Given the description of an element on the screen output the (x, y) to click on. 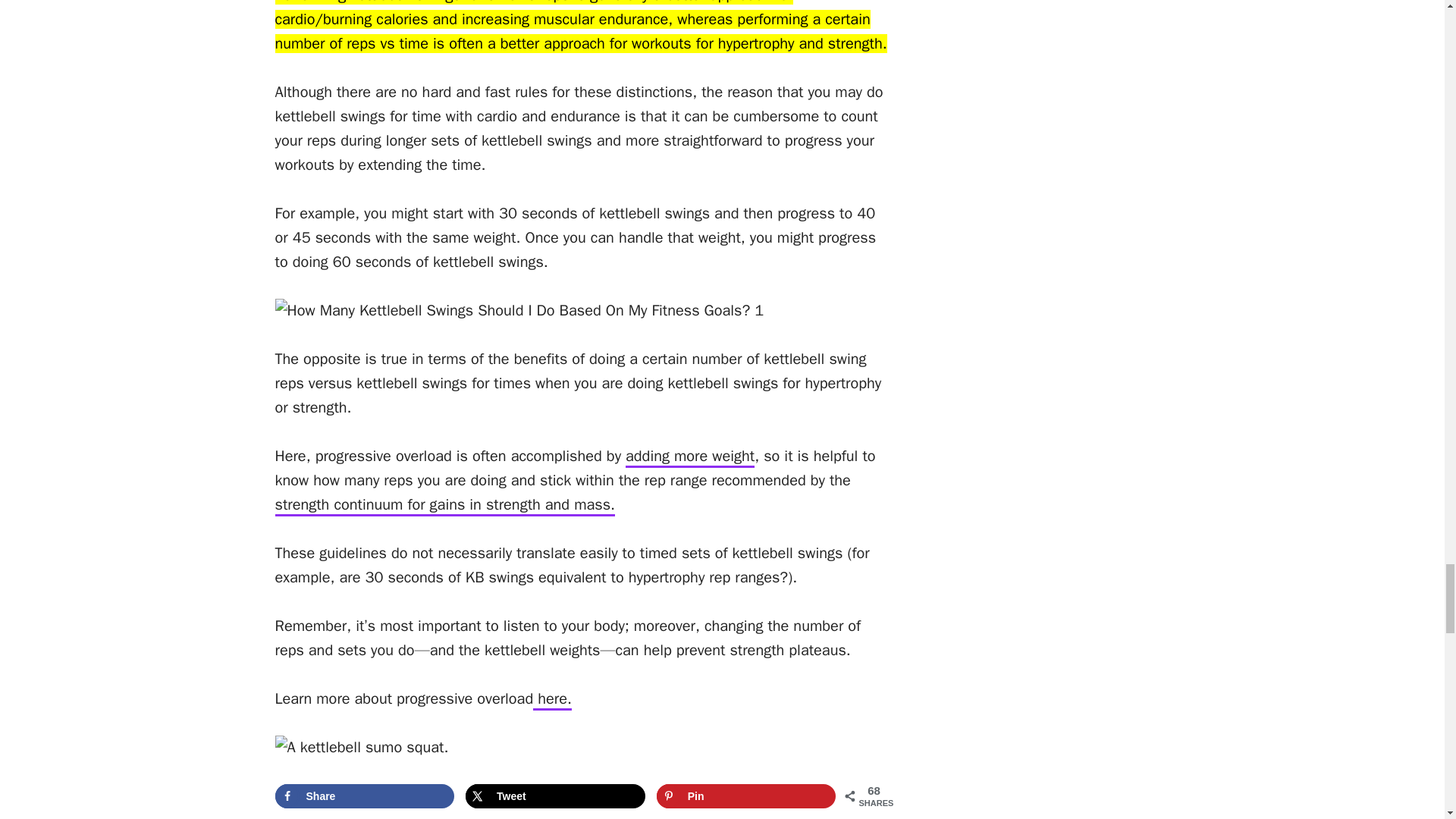
Share on X (555, 795)
Save to Pinterest (745, 795)
Share on Facebook (364, 795)
